Given the description of an element on the screen output the (x, y) to click on. 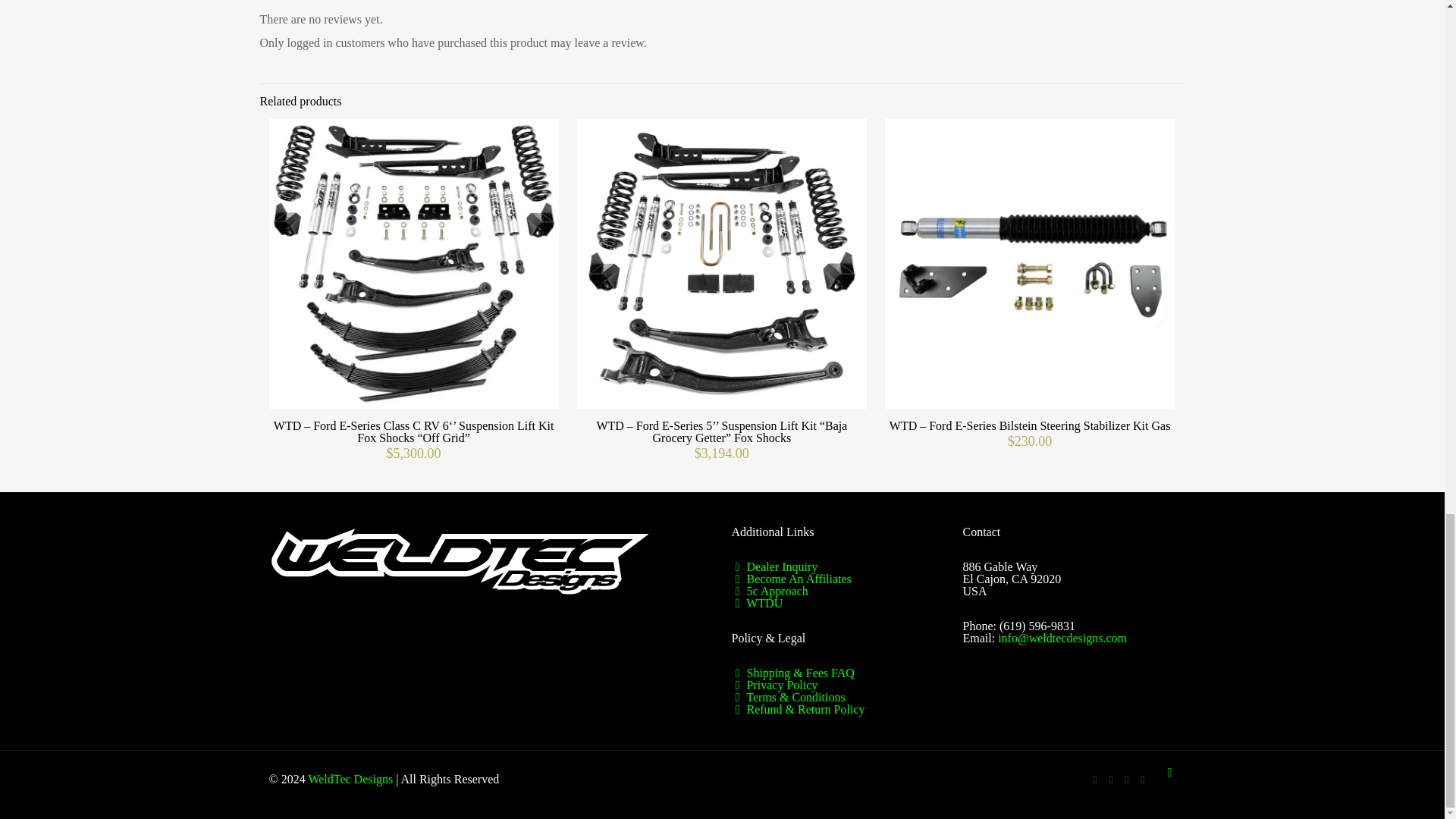
Pinterest (1126, 779)
Instagram (1142, 779)
Facebook (1094, 779)
YouTube (1110, 779)
